Given the description of an element on the screen output the (x, y) to click on. 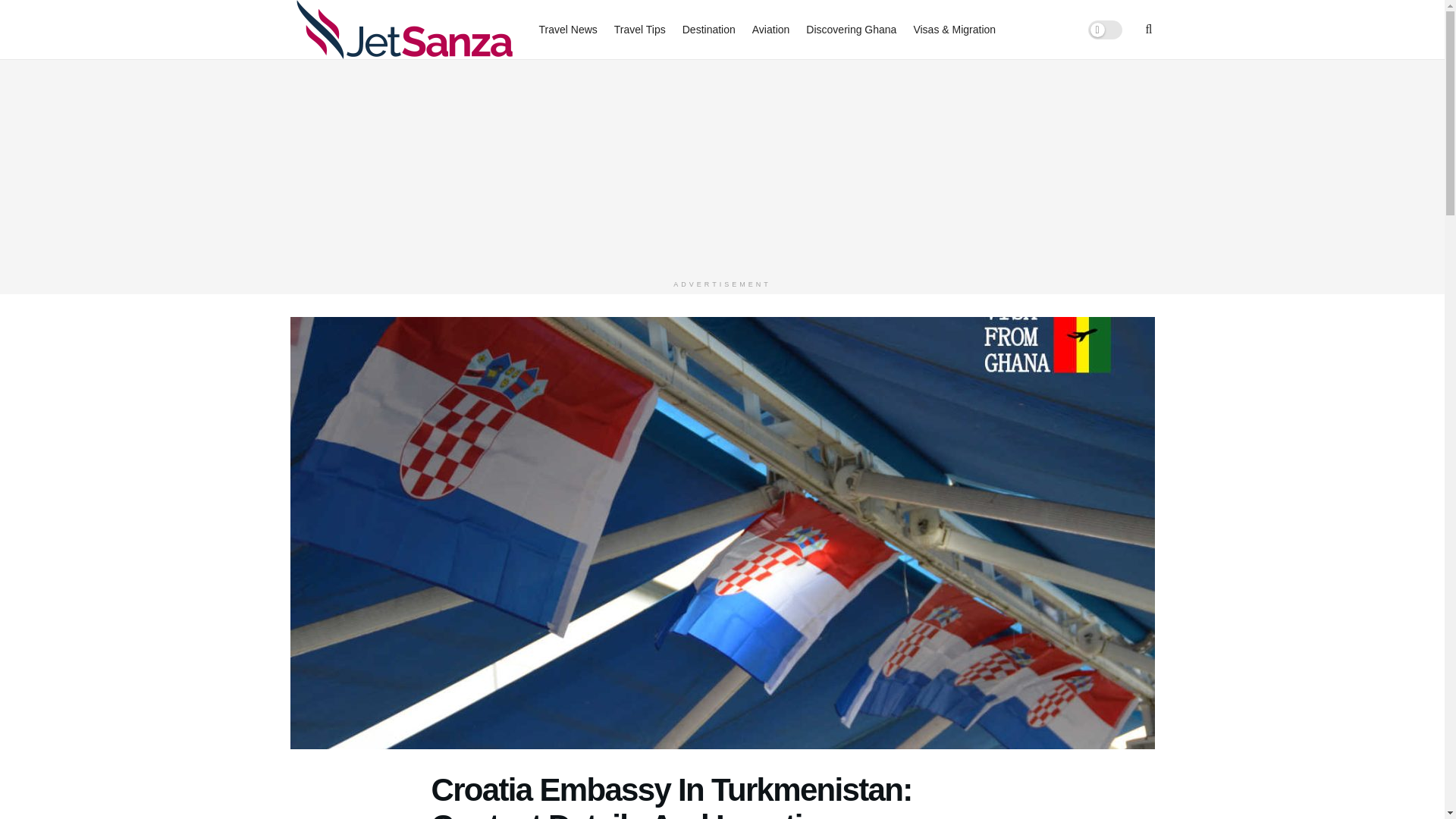
Aviation (771, 29)
Destination (708, 29)
Travel Tips (639, 29)
Travel News (567, 29)
Discovering Ghana (851, 29)
